Given the description of an element on the screen output the (x, y) to click on. 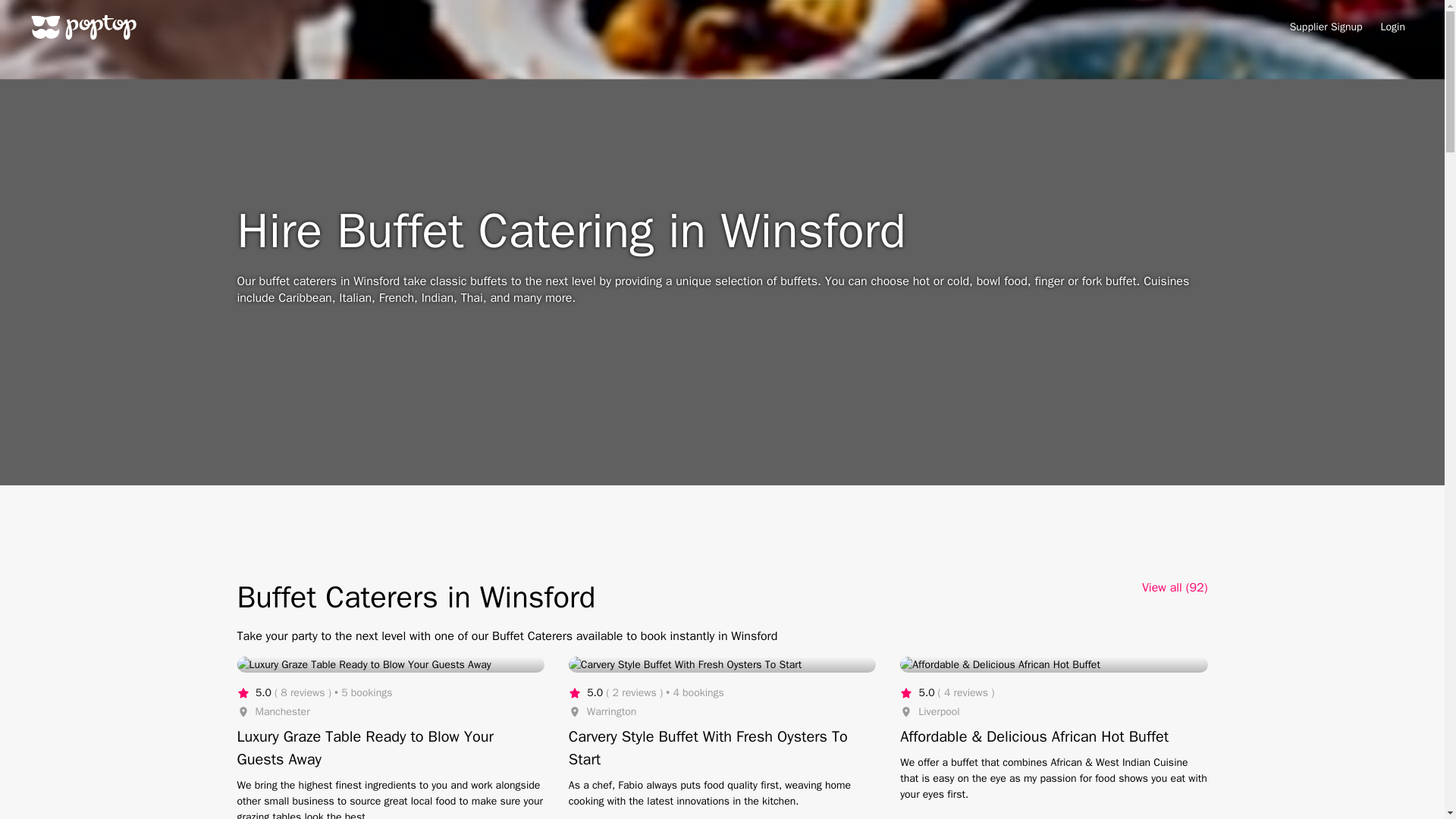
Login (1392, 26)
Supplier Signup (1326, 26)
